Given the description of an element on the screen output the (x, y) to click on. 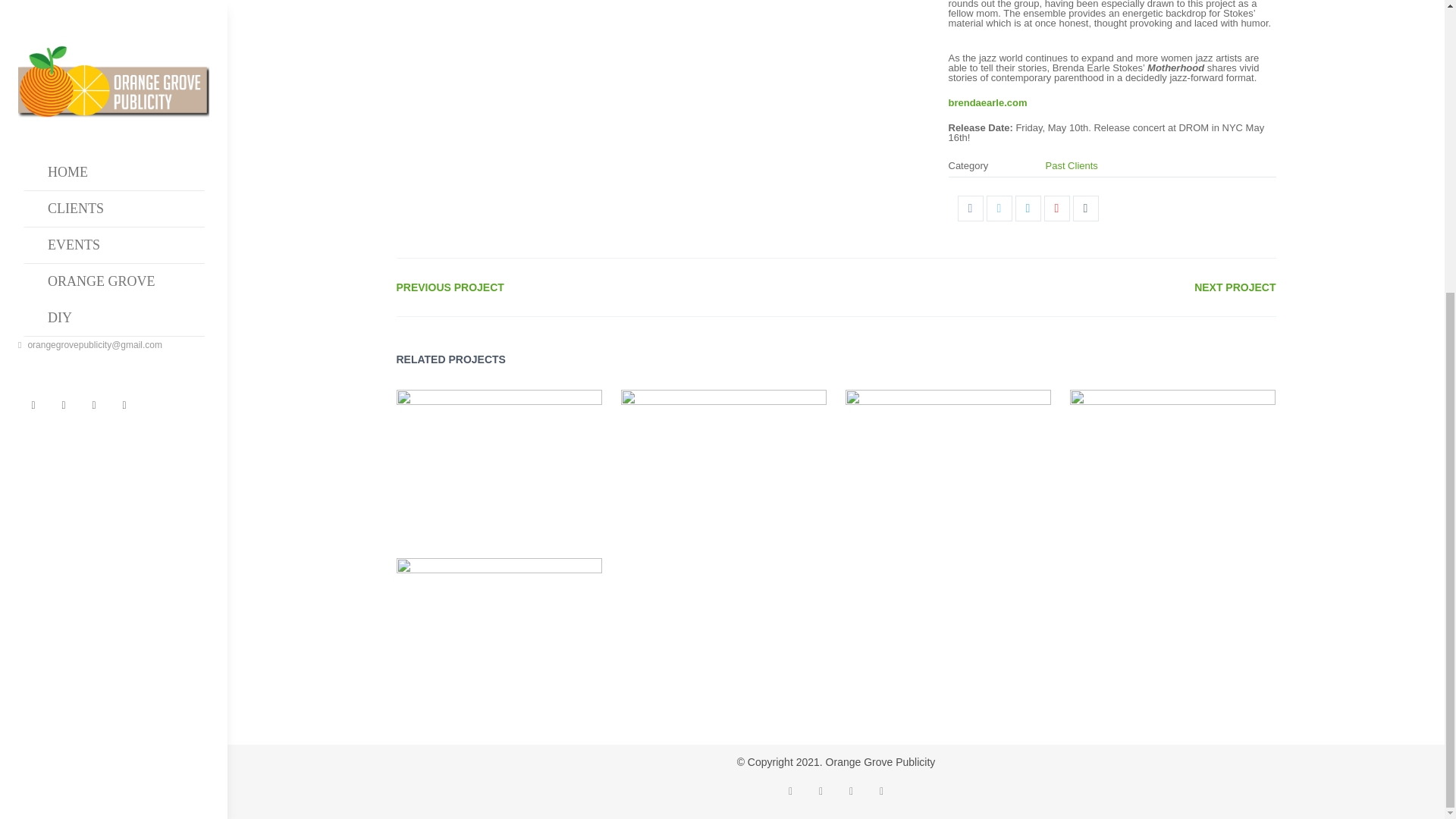
 Follow on Facebook (820, 791)
Share on Pinterest (1056, 208)
Past Clients (1071, 165)
 Follow on Twitter (789, 791)
brendaearle.com (986, 102)
Share on WhatsApp (1085, 208)
NEXT PROJECT (1234, 287)
Share on LinkedIn (1028, 208)
Share on Twitter (999, 208)
Share on Facebook (970, 208)
